Given the description of an element on the screen output the (x, y) to click on. 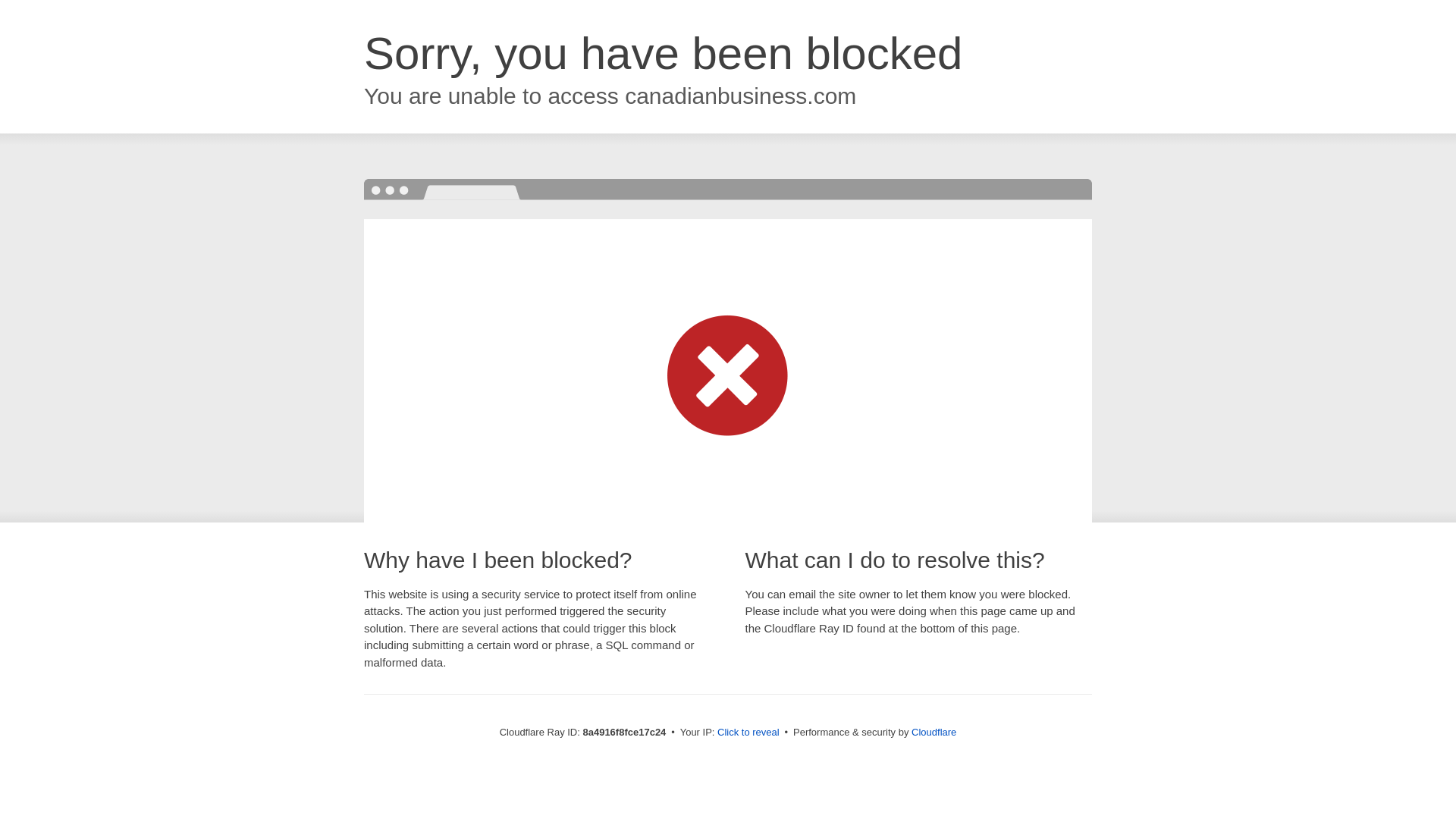
Cloudflare (933, 731)
Click to reveal (747, 732)
